Given the description of an element on the screen output the (x, y) to click on. 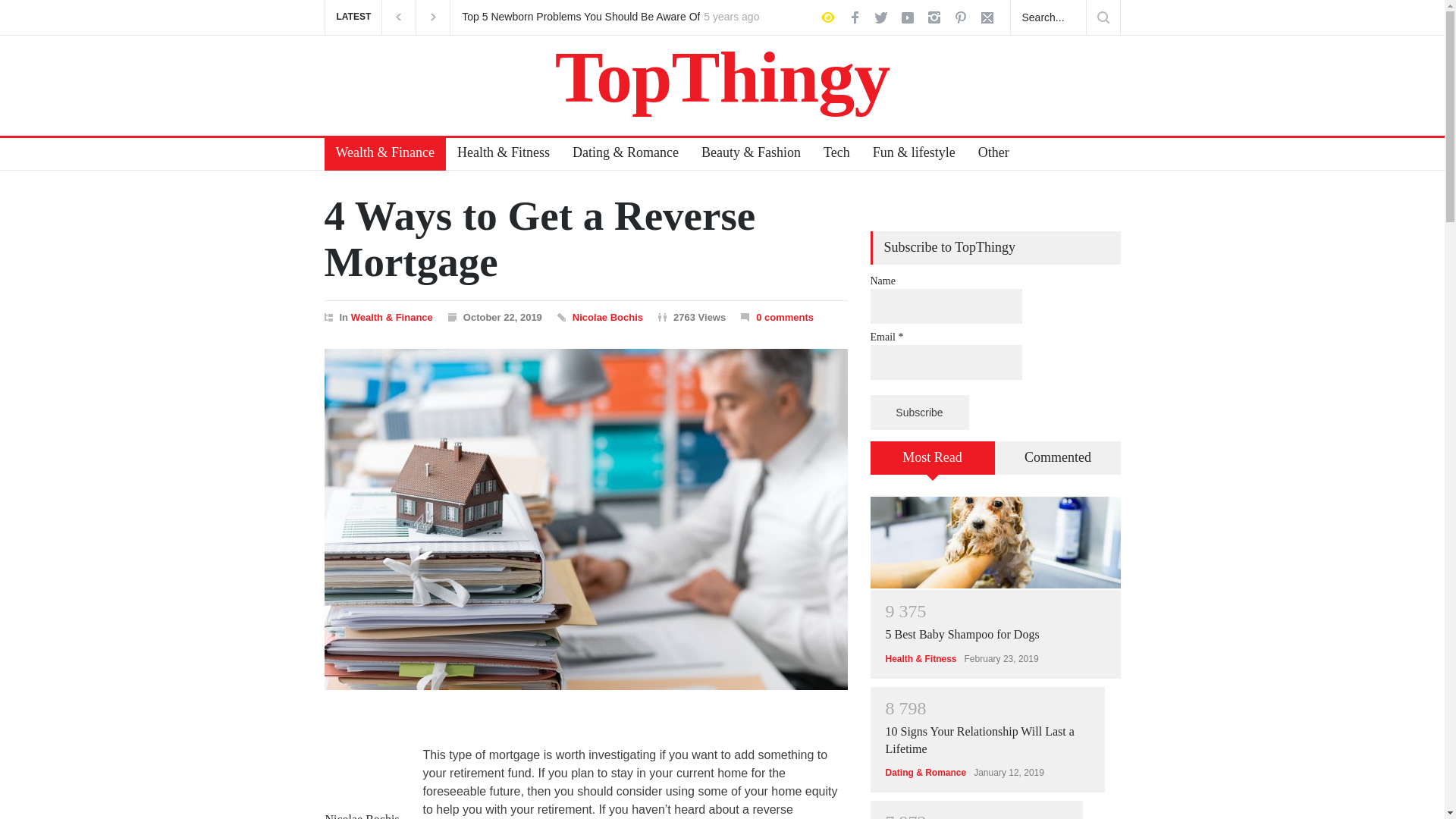
Top 5 Newborn Problems You Should Be Aware Of (580, 17)
Nicolae Bochis (361, 816)
Nicolae Bochis (607, 317)
Subscribe (919, 411)
0 comments (784, 317)
4 Ways to Get a Reverse Mortgage (539, 238)
Nicolae Bochis (607, 317)
Nicolae Bochis (362, 765)
Search... (1048, 17)
Other (987, 154)
